Given the description of an element on the screen output the (x, y) to click on. 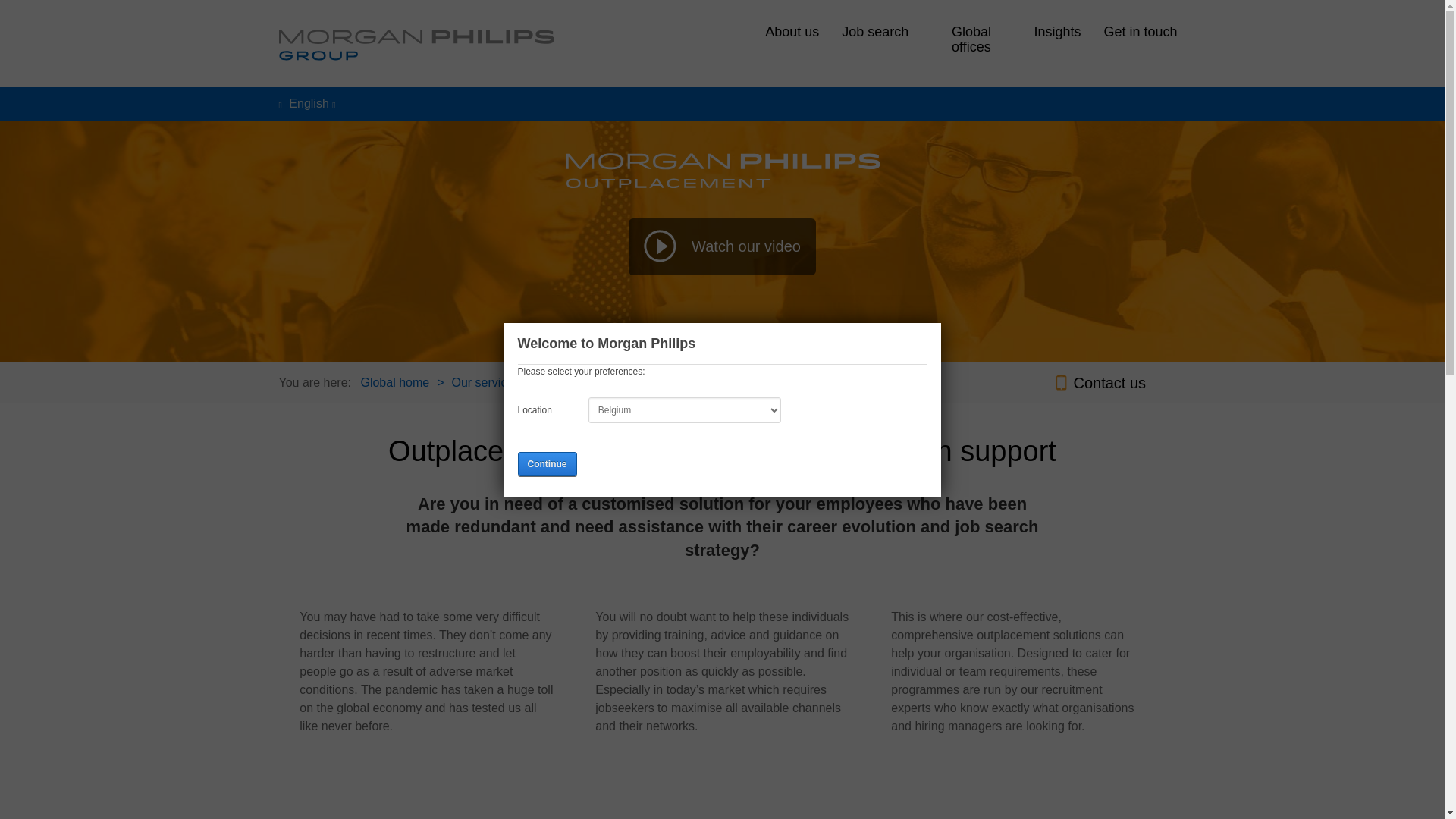
Our services (485, 382)
Home (416, 46)
About us (791, 29)
Contact us (1099, 382)
Job search (874, 29)
Global home (394, 382)
Outplacement (579, 382)
Insights (1056, 29)
Get in touch (1139, 29)
Global offices (970, 37)
